Given the description of an element on the screen output the (x, y) to click on. 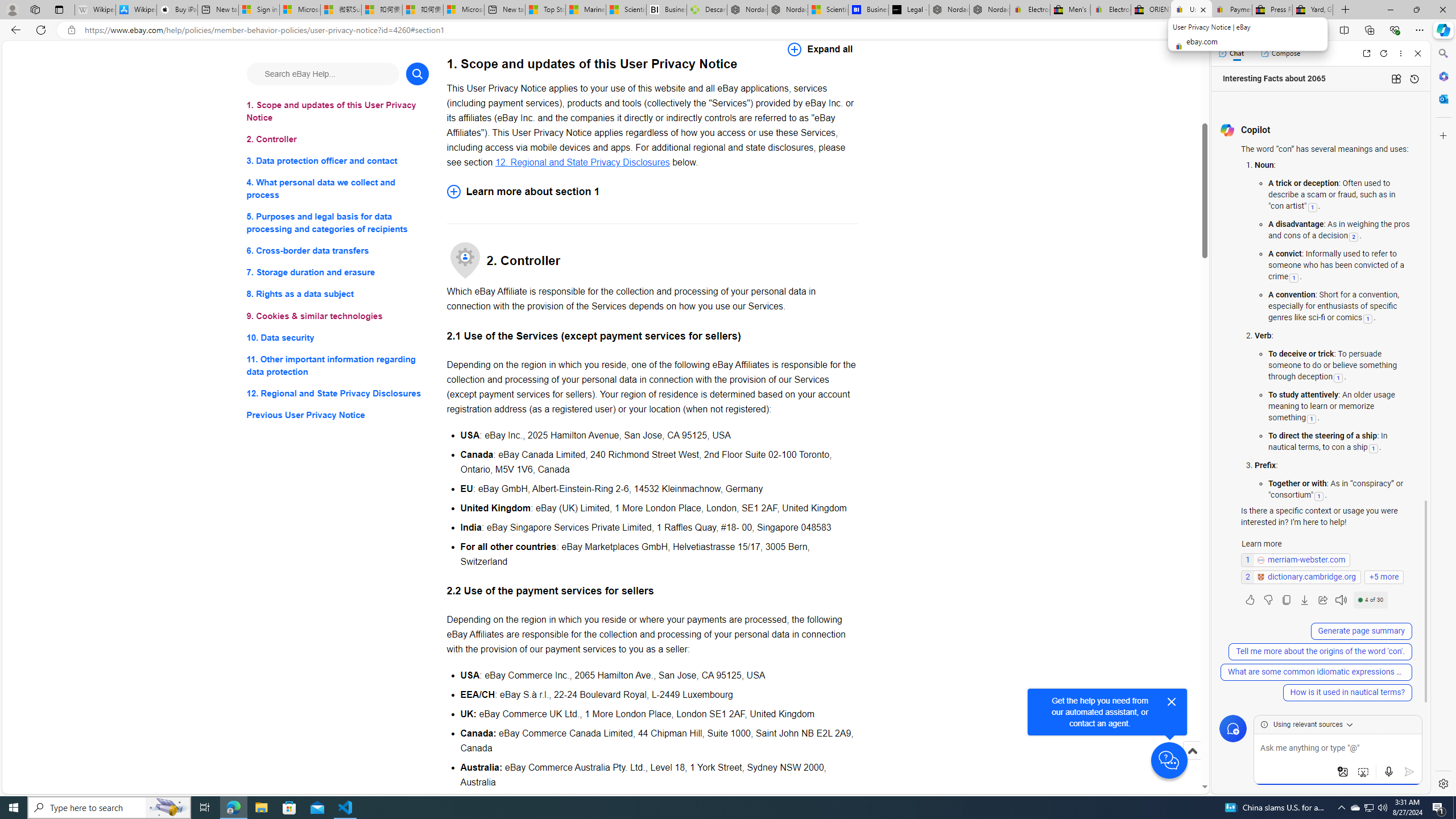
Previous User Privacy Notice (337, 414)
4. What personal data we collect and process (337, 189)
Top Stories - MSN (544, 9)
11. Other important information regarding data protection (337, 365)
12. Regional and State Privacy Disclosures (337, 392)
Enter Immersive Reader (F9) (1291, 29)
10. Data security (337, 336)
